Given the description of an element on the screen output the (x, y) to click on. 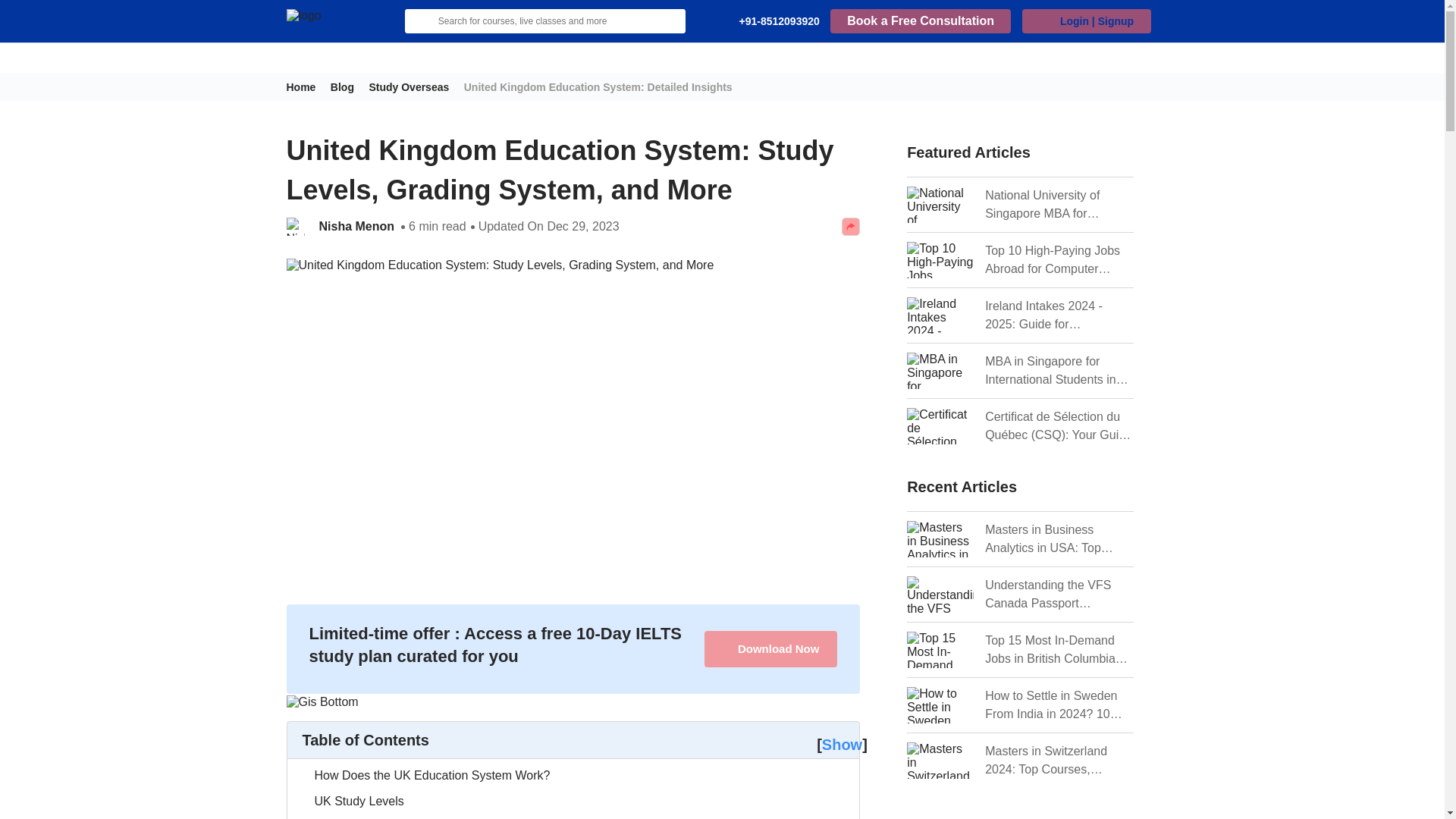
Nisha Menon (357, 226)
Blog (347, 87)
Study Overseas (414, 87)
Nisha Menon (357, 226)
Download Now (770, 648)
Home (306, 87)
Show (841, 744)
How Does the UK Education System Work? (432, 775)
UK Study Levels (358, 801)
Book a Free Consultation (919, 21)
Book a Free Consultation (919, 20)
